Given the description of an element on the screen output the (x, y) to click on. 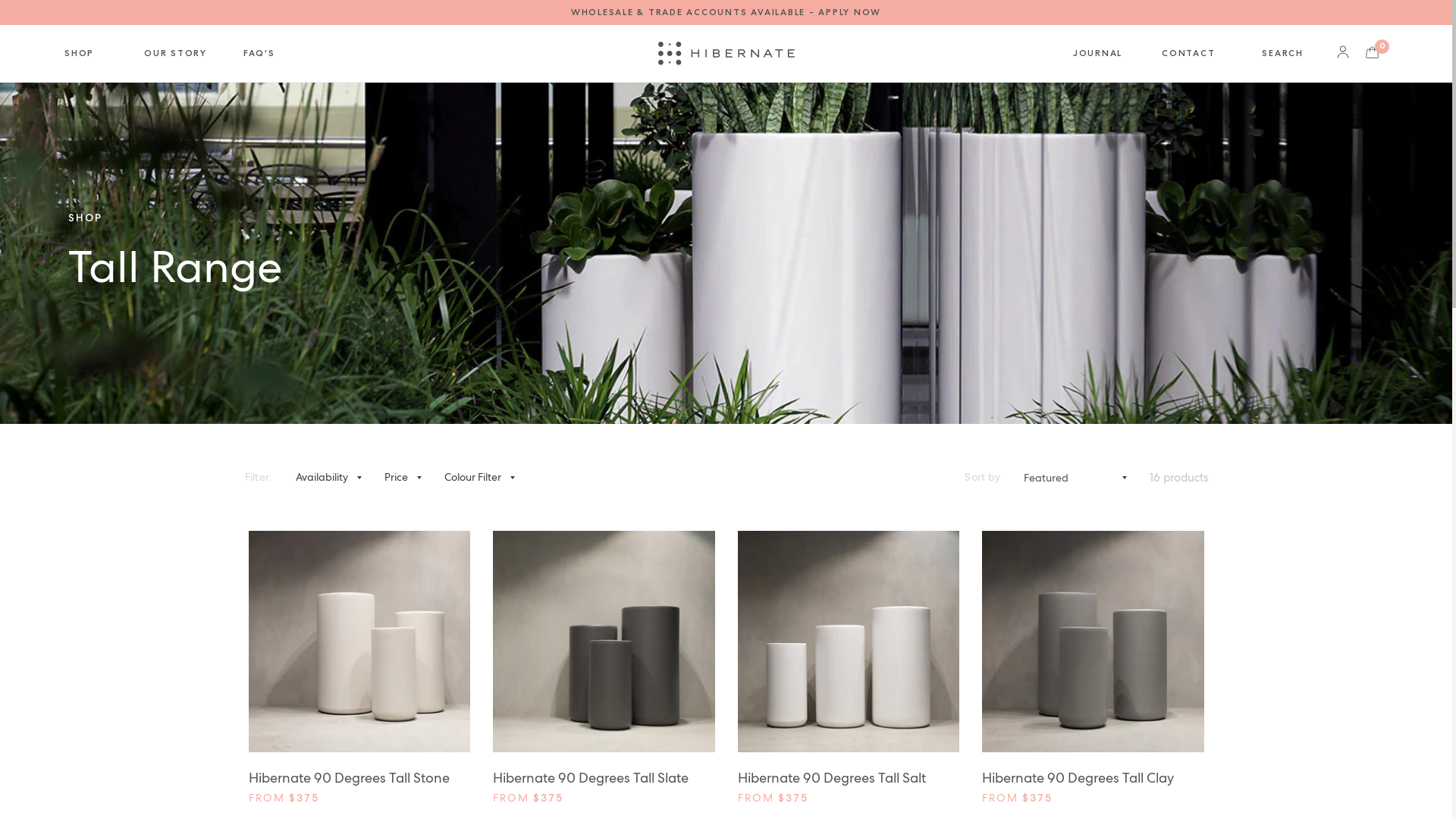
Hibernate 90 Degrees Tall Salt Element type: text (848, 777)
SHOP Element type: text (85, 53)
Hibernate 90 Degrees Tall Stone Element type: text (359, 777)
My Account Element type: hover (1342, 53)
Hibernate 90 Degrees Tall Salt Element type: hover (848, 641)
OUR STORY Element type: text (175, 53)
Hibernate 90 Degrees Tall Clay Element type: hover (1093, 641)
CONTACT Element type: text (1187, 53)
Hibernate 90 Degrees Tall Stone Element type: hover (359, 641)
0 Element type: text (1371, 53)
Hibernate 90 Degrees Tall Slate Element type: text (603, 777)
FAQ'S Element type: text (259, 53)
SEARCH Element type: text (1282, 53)
Hibernate 90 Degrees Tall Clay Element type: text (1093, 777)
Hibernate 90 Degrees Tall Slate Element type: hover (603, 641)
JOURNAL Element type: text (1097, 53)
